Given the description of an element on the screen output the (x, y) to click on. 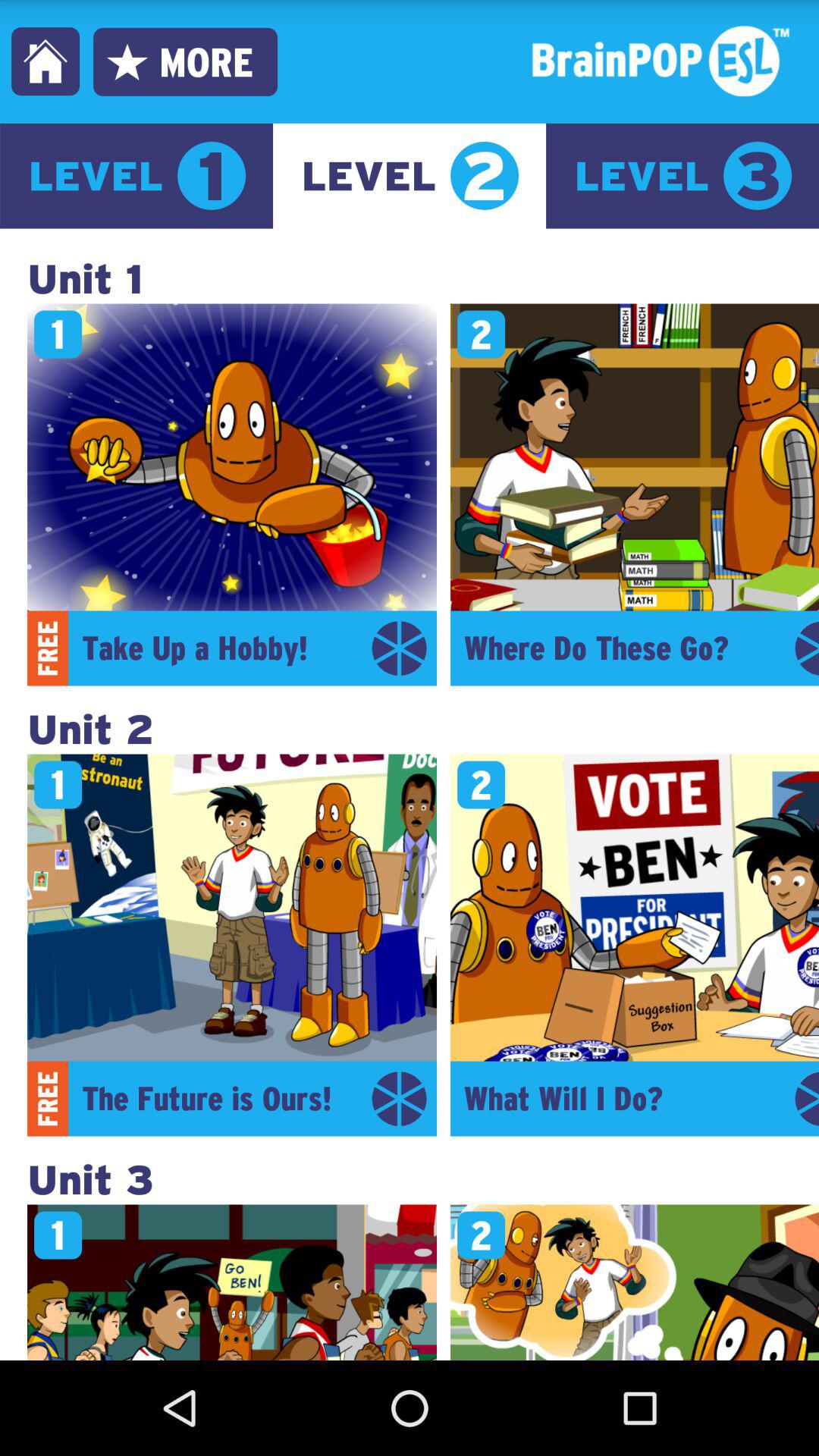
click the image below unit 3 (231, 1282)
move to the text at the top right corner (654, 60)
select the icon which is at the top left of the page (45, 60)
